Given the description of an element on the screen output the (x, y) to click on. 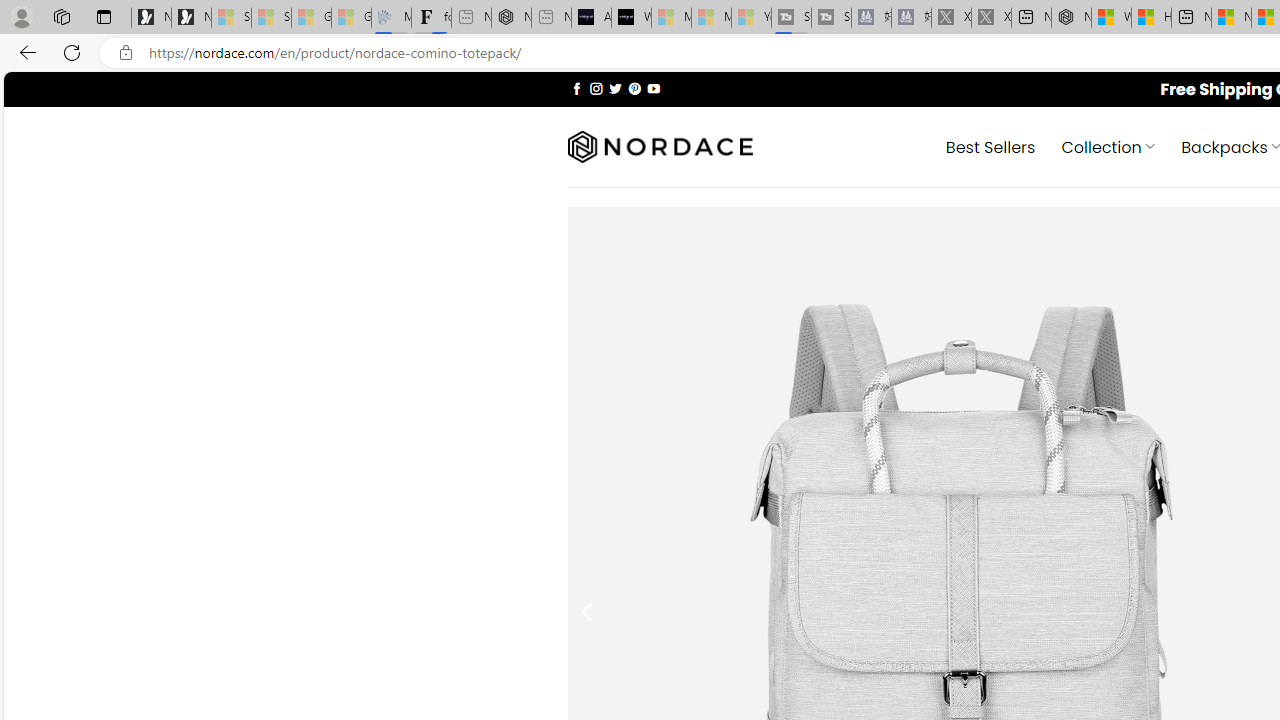
Microsoft Start - Sleeping (711, 17)
X - Sleeping (991, 17)
Nordace - #1 Japanese Best-Seller - Siena Smart Backpack (511, 17)
Follow on Pinterest (634, 88)
Streaming Coverage | T3 - Sleeping (791, 17)
Newsletter Sign Up (191, 17)
Follow on Twitter (615, 88)
